Given the description of an element on the screen output the (x, y) to click on. 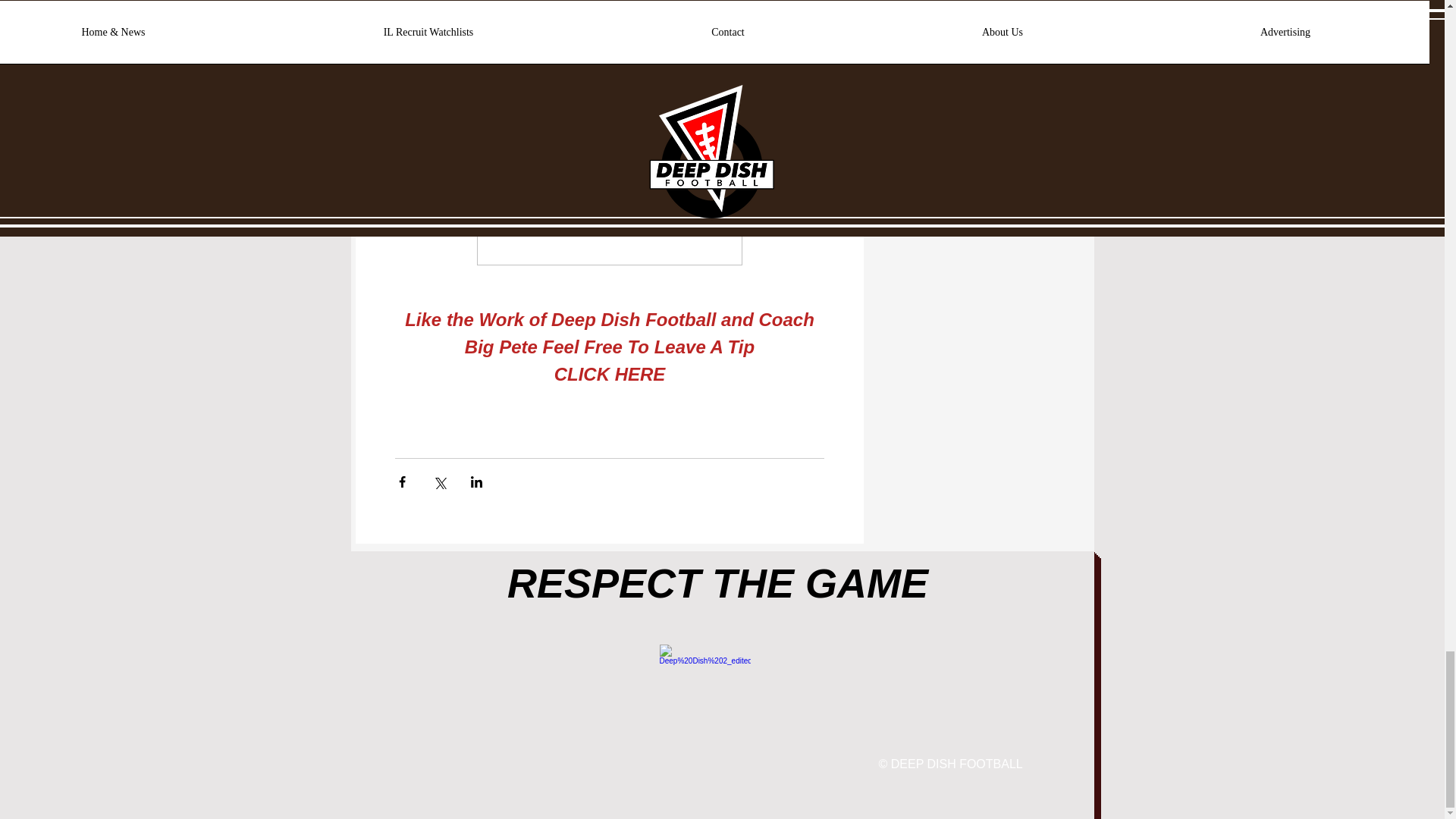
CLICK HERE (609, 373)
